Given the description of an element on the screen output the (x, y) to click on. 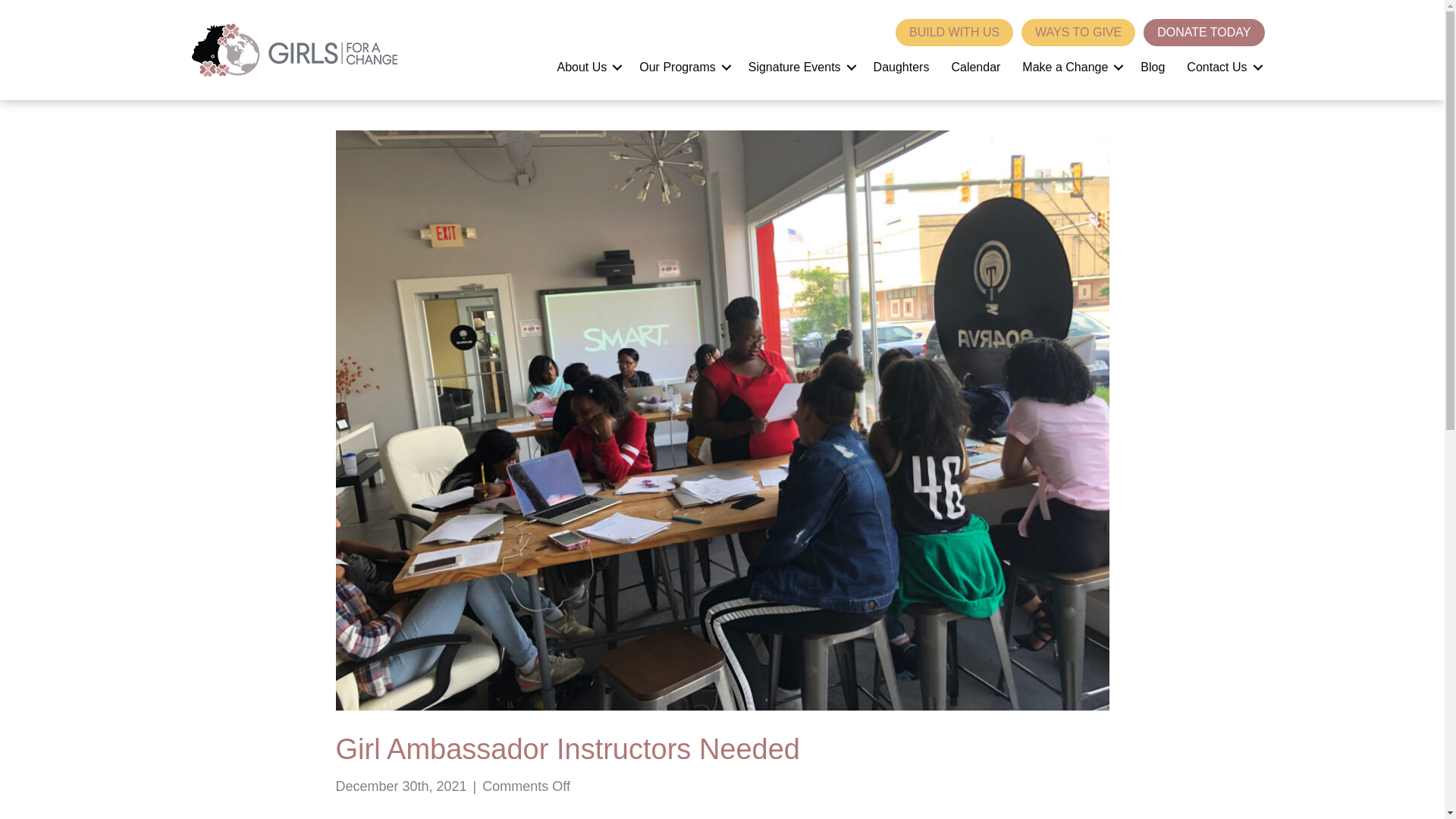
Make a Change (1070, 67)
Our Programs (682, 67)
BUILD WITH US (954, 31)
About Us (586, 67)
DONATE TODAY (1202, 31)
Calendar (975, 67)
WAYS TO GIVE (1078, 31)
Daughters (901, 67)
Signature Events (799, 67)
GFAC-small.png (293, 49)
